Given the description of an element on the screen output the (x, y) to click on. 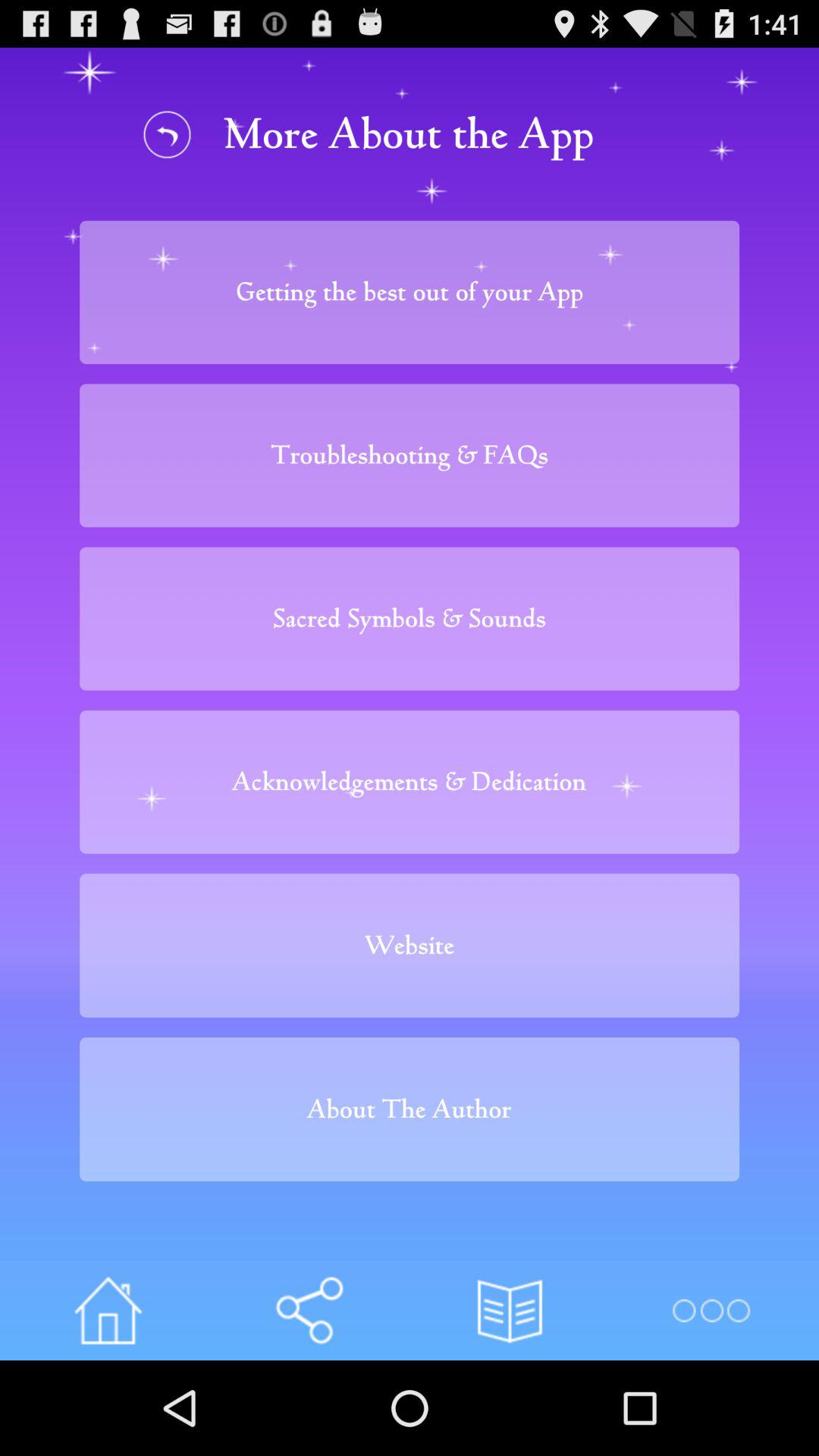
share information (308, 1310)
